Given the description of an element on the screen output the (x, y) to click on. 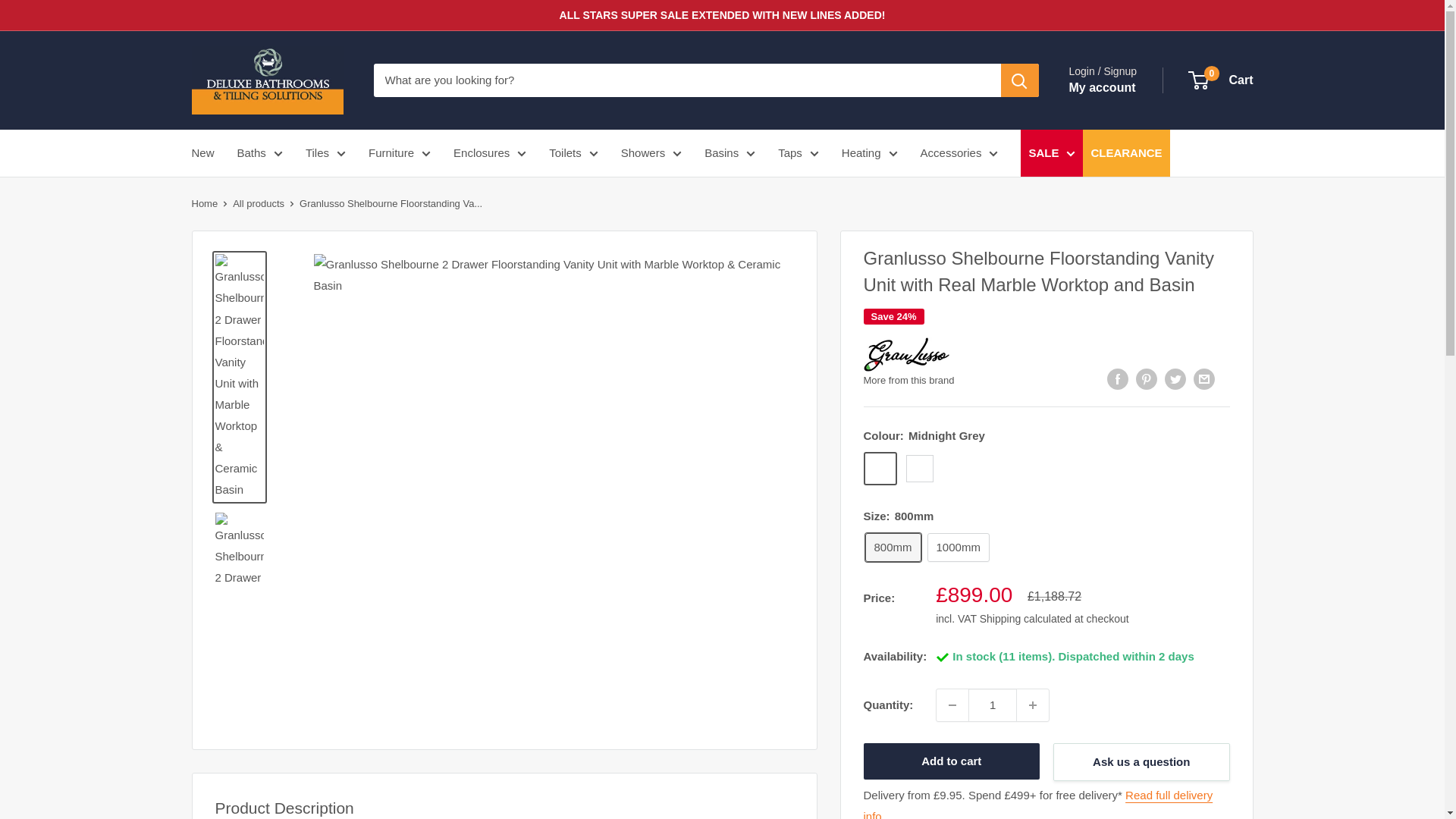
Decrease quantity by 1 (952, 705)
ALL STARS SUPER SALE EXTENDED WITH NEW LINES ADDED! (722, 15)
Increase quantity by 1 (1032, 705)
Delivery (1037, 803)
1000mm (958, 547)
Granlusso (916, 354)
Light Grey (958, 468)
800mm (892, 547)
1 (992, 705)
White (919, 468)
Midnight Grey (879, 468)
